Given the description of an element on the screen output the (x, y) to click on. 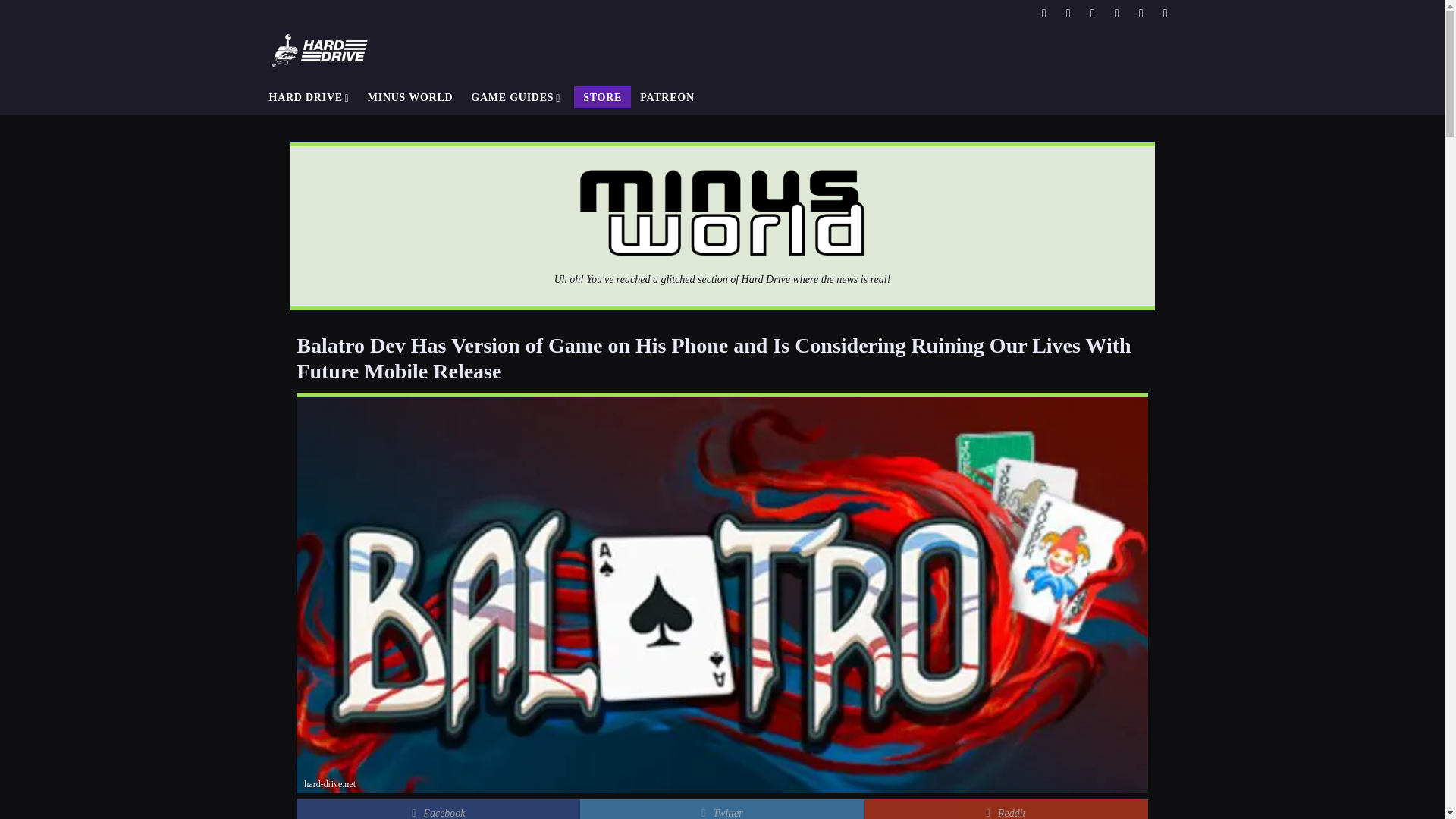
MINUS WORLD (410, 97)
Twitter (721, 809)
HARD DRIVE (308, 97)
STORE (601, 97)
Reddit (1006, 809)
Facebook (438, 809)
PATREON (666, 97)
GAME GUIDES (515, 97)
